Given the description of an element on the screen output the (x, y) to click on. 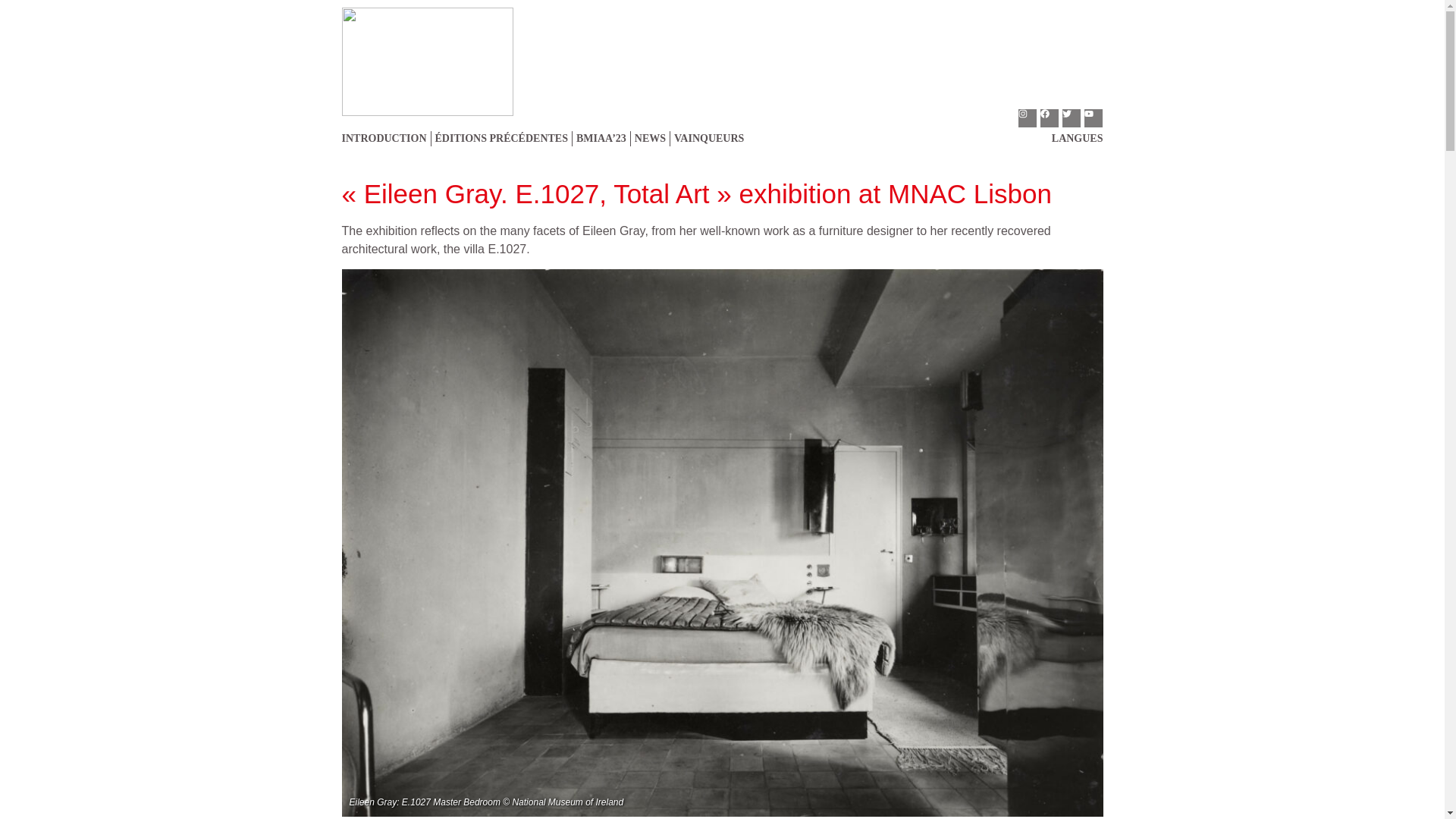
VAINQUEURS (708, 142)
NEWS (649, 142)
INTRODUCTION (384, 142)
